Given the description of an element on the screen output the (x, y) to click on. 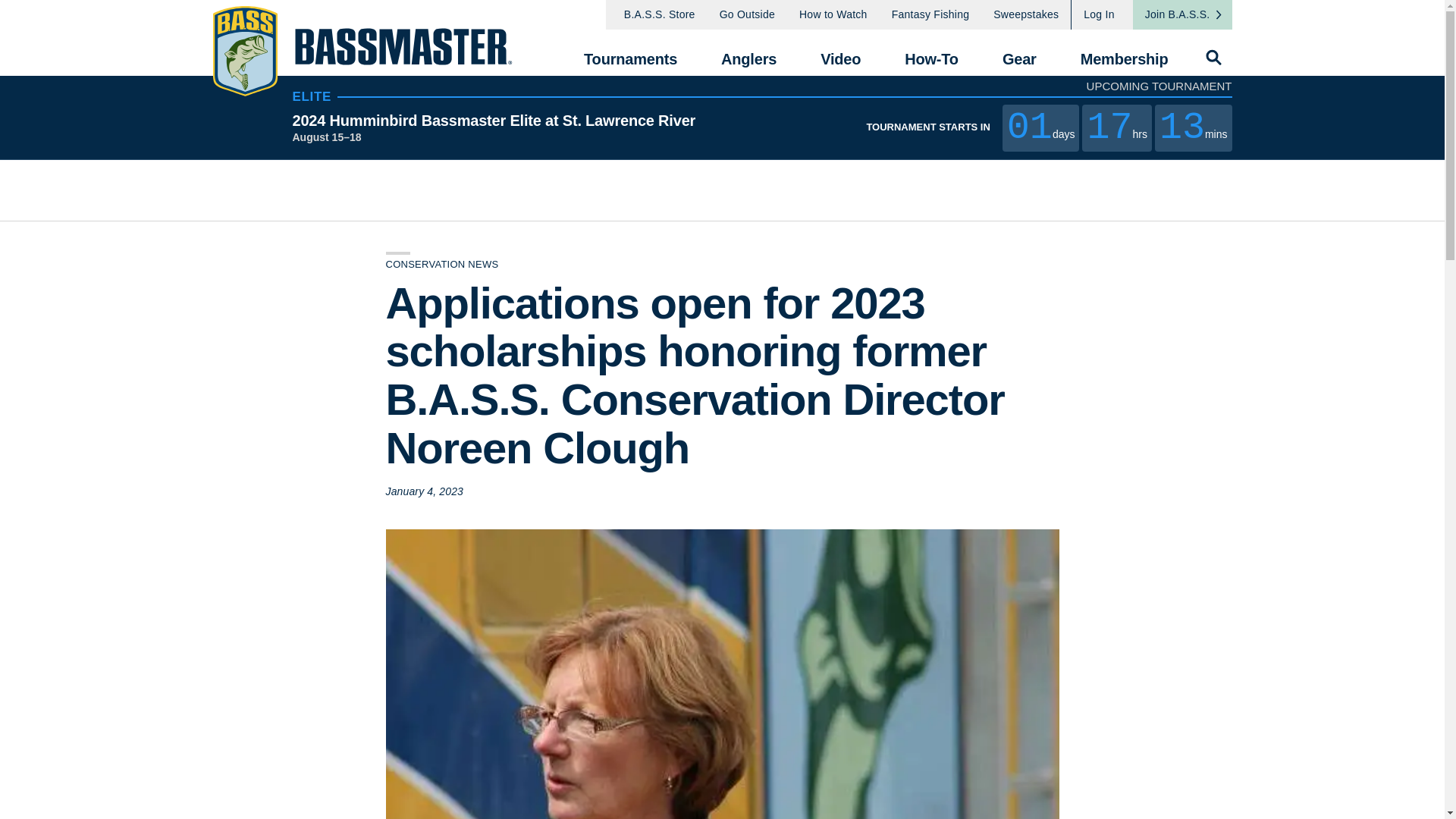
How-To (931, 52)
Anglers (748, 52)
Tournaments (630, 52)
Video (840, 52)
